Given the description of an element on the screen output the (x, y) to click on. 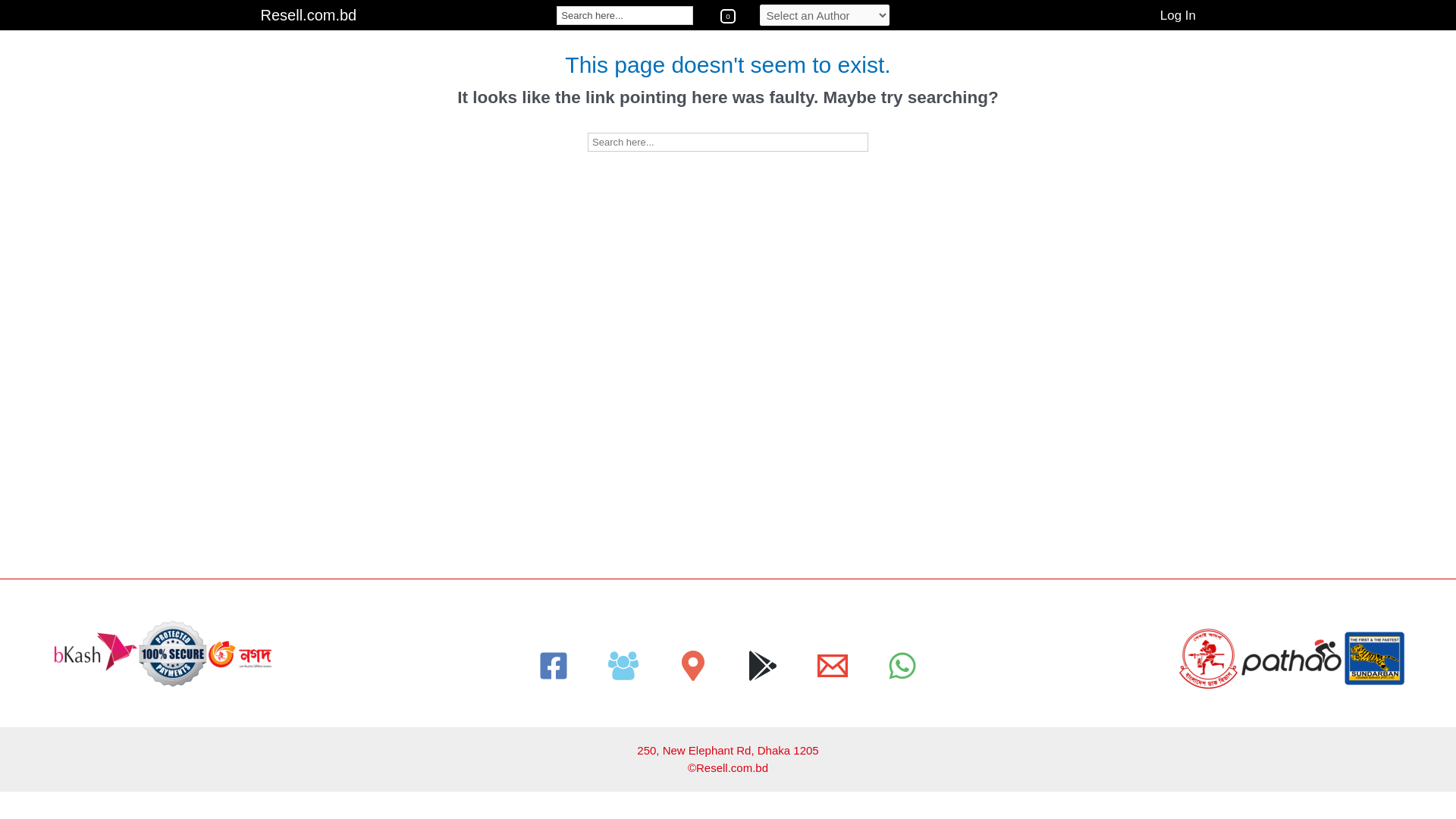
0 Element type: text (727, 14)
Resell.com.bd Element type: text (308, 14)
Log In Element type: text (1177, 15)
Advertisement Element type: hover (455, 472)
Advertisement Element type: hover (455, 259)
